Given the description of an element on the screen output the (x, y) to click on. 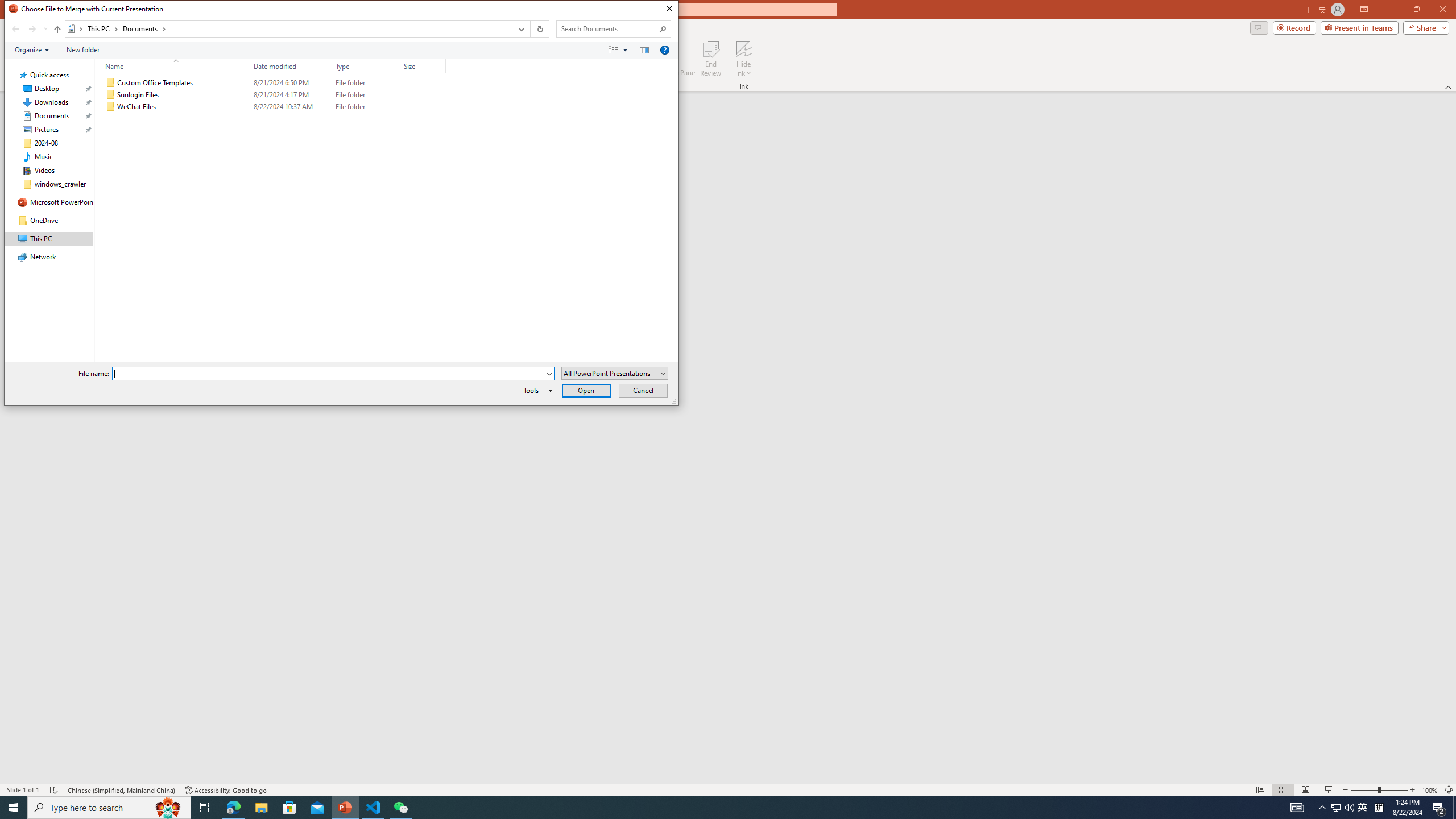
More Options (743, 68)
Forward (Alt + Right Arrow) (31, 28)
Filter dropdown (440, 65)
Minimize (1390, 9)
System (10, 10)
Tools (535, 390)
Date modified (1335, 807)
Back (Alt + Left Arrow) (290, 106)
WeChat - 1 running window (15, 28)
Name (400, 807)
Command Module (173, 65)
Class: MsoCommandBar (341, 49)
Open (728, 789)
